Given the description of an element on the screen output the (x, y) to click on. 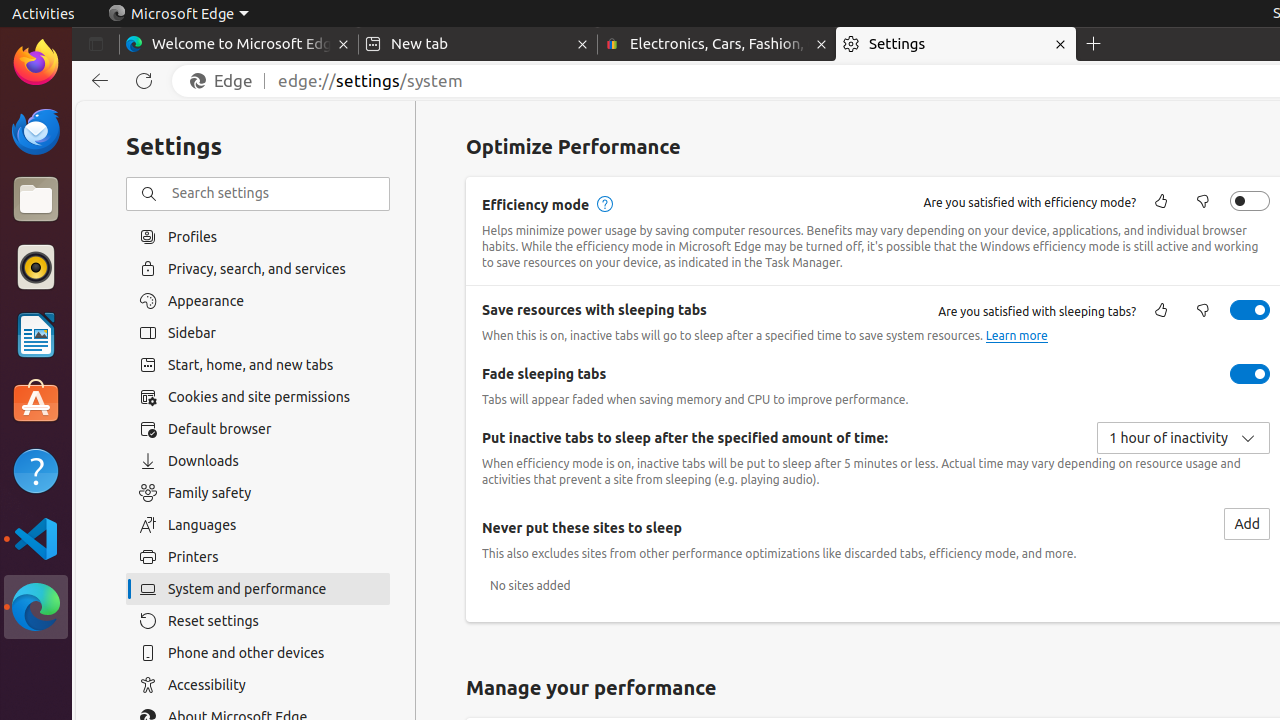
System and performance Element type: tree-item (258, 589)
